Given the description of an element on the screen output the (x, y) to click on. 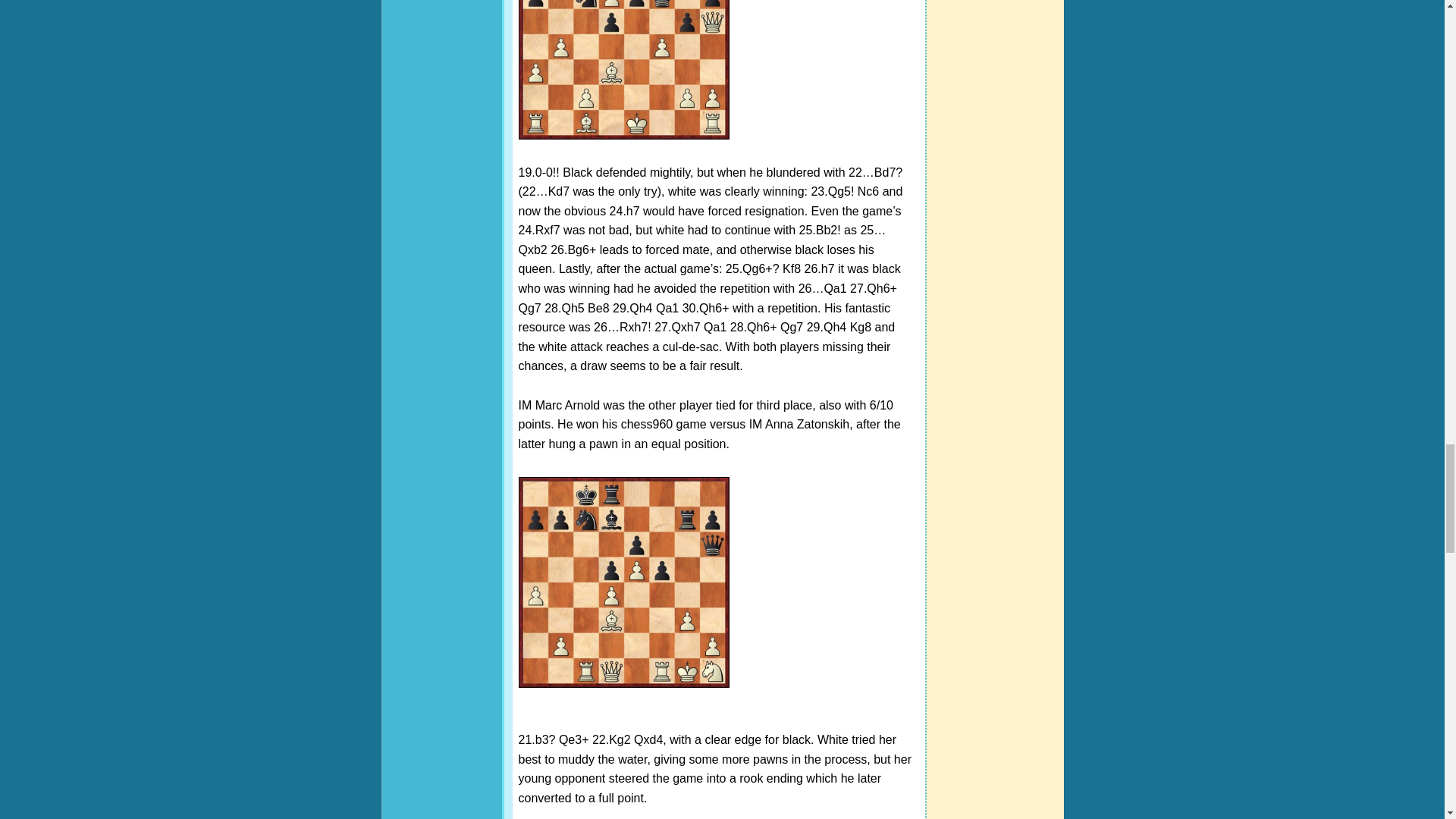
LahnoStopa.jpg (623, 69)
ZatonskihArnold.jpg (623, 581)
